Given the description of an element on the screen output the (x, y) to click on. 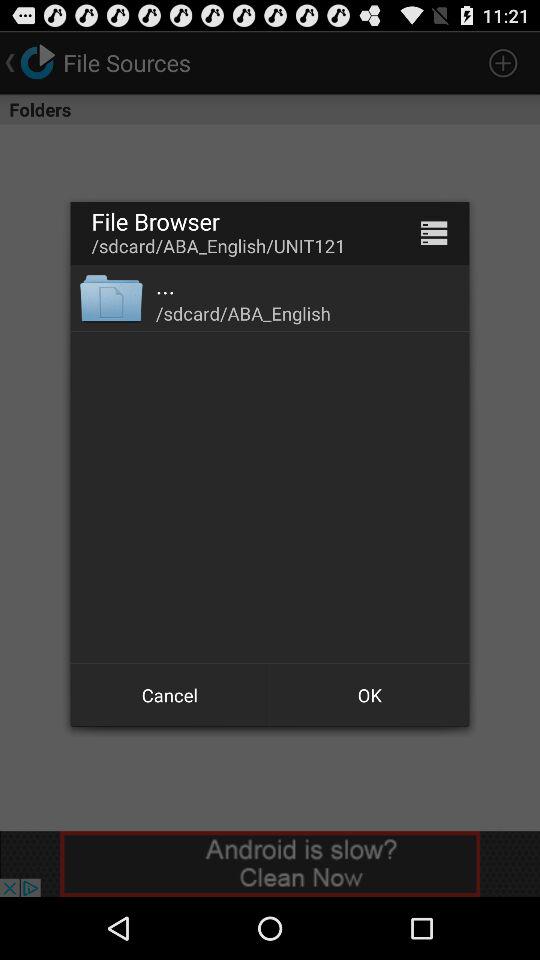
select the app above /sdcard/aba_english item (433, 232)
